Given the description of an element on the screen output the (x, y) to click on. 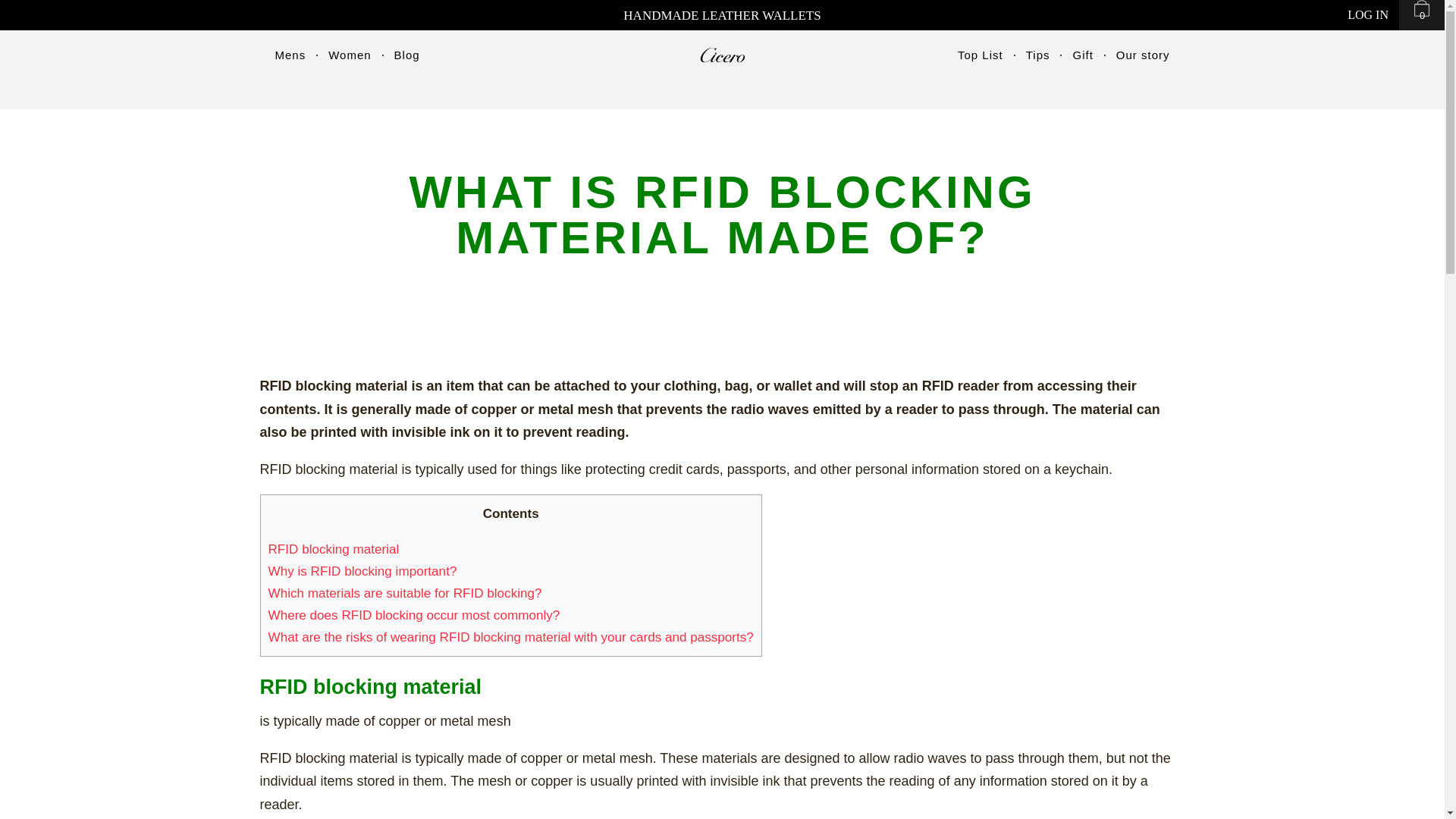
Where does RFID blocking occur most commonly? (413, 615)
Gift (1082, 54)
Top List (980, 54)
Which materials are suitable for RFID blocking? (404, 593)
Tips (1037, 54)
RFID blocking material (332, 549)
Women (350, 54)
Blog (407, 54)
Our story (1143, 54)
Mens (290, 54)
LOG IN (1368, 15)
Why is RFID blocking important? (362, 571)
